Given the description of an element on the screen output the (x, y) to click on. 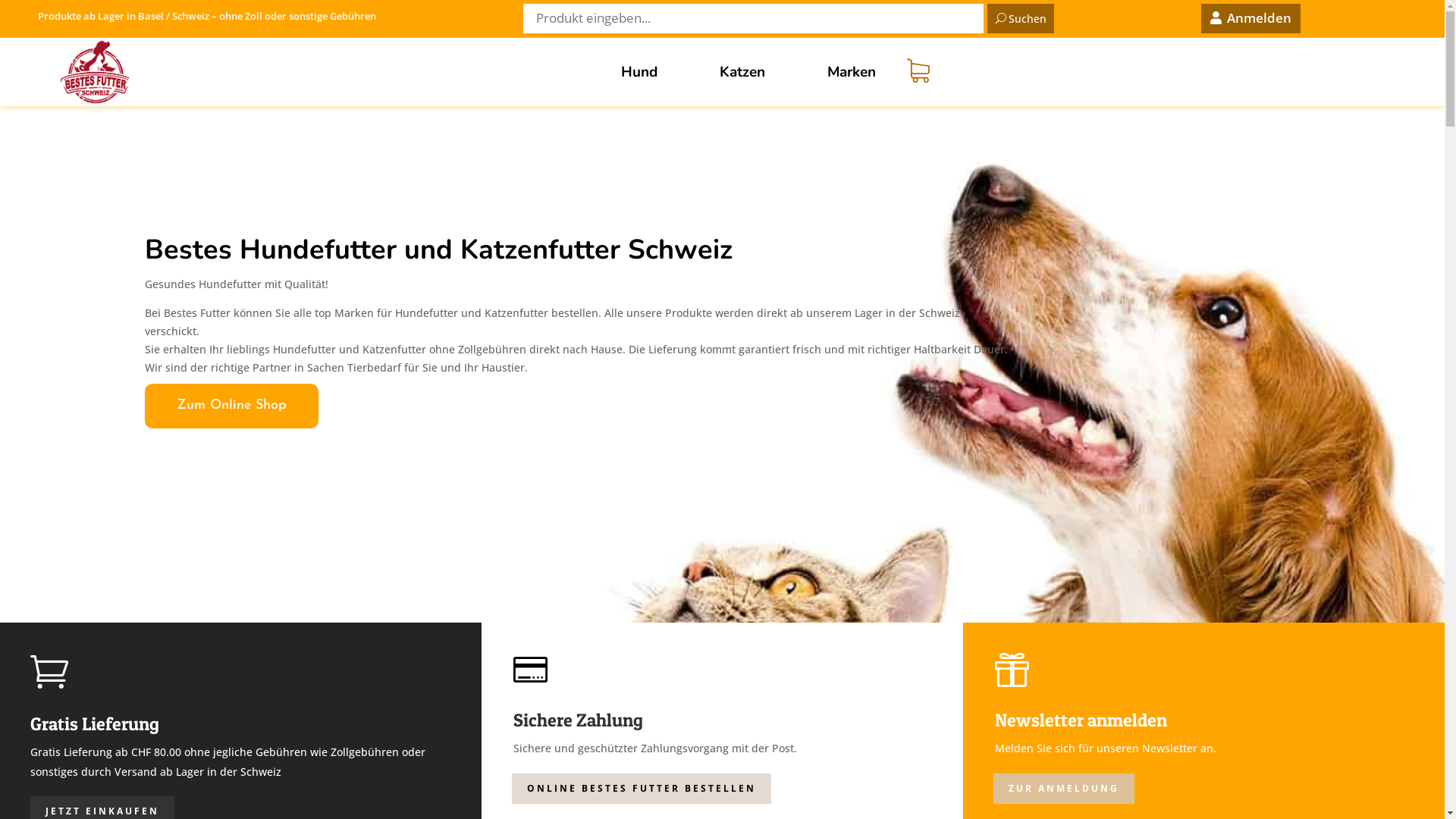
ZUR ANMELDUNG Element type: text (1063, 788)
Suchen Element type: text (1020, 18)
Marken Element type: text (850, 71)
Anmelden Element type: text (1250, 18)
Katzen Element type: text (741, 71)
ONLINE BESTES FUTTER BESTELLEN Element type: text (641, 788)
Zum Online Shop Element type: text (230, 405)
Hund Element type: text (638, 71)
